Given the description of an element on the screen output the (x, y) to click on. 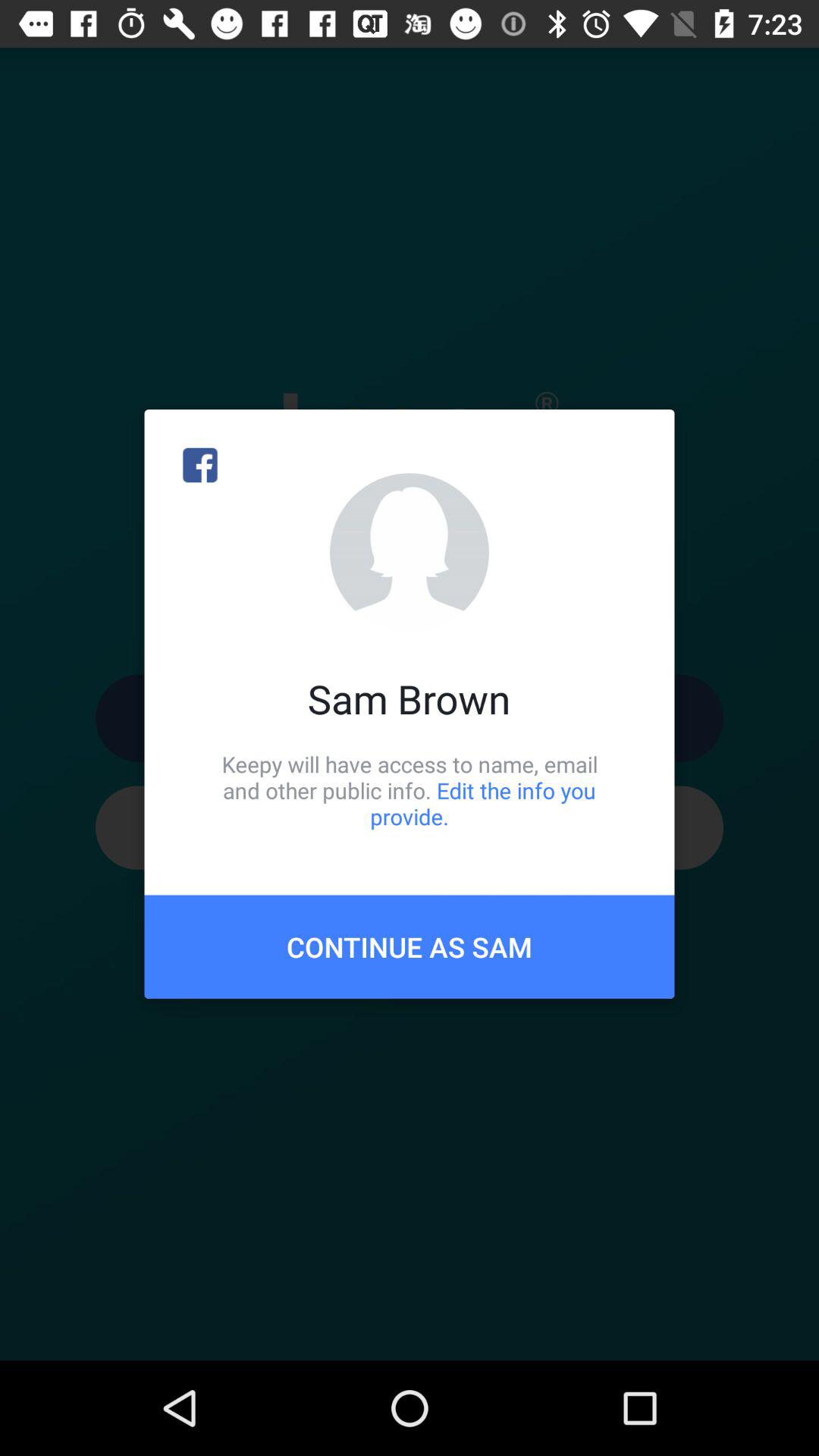
turn off the continue as sam icon (409, 946)
